Given the description of an element on the screen output the (x, y) to click on. 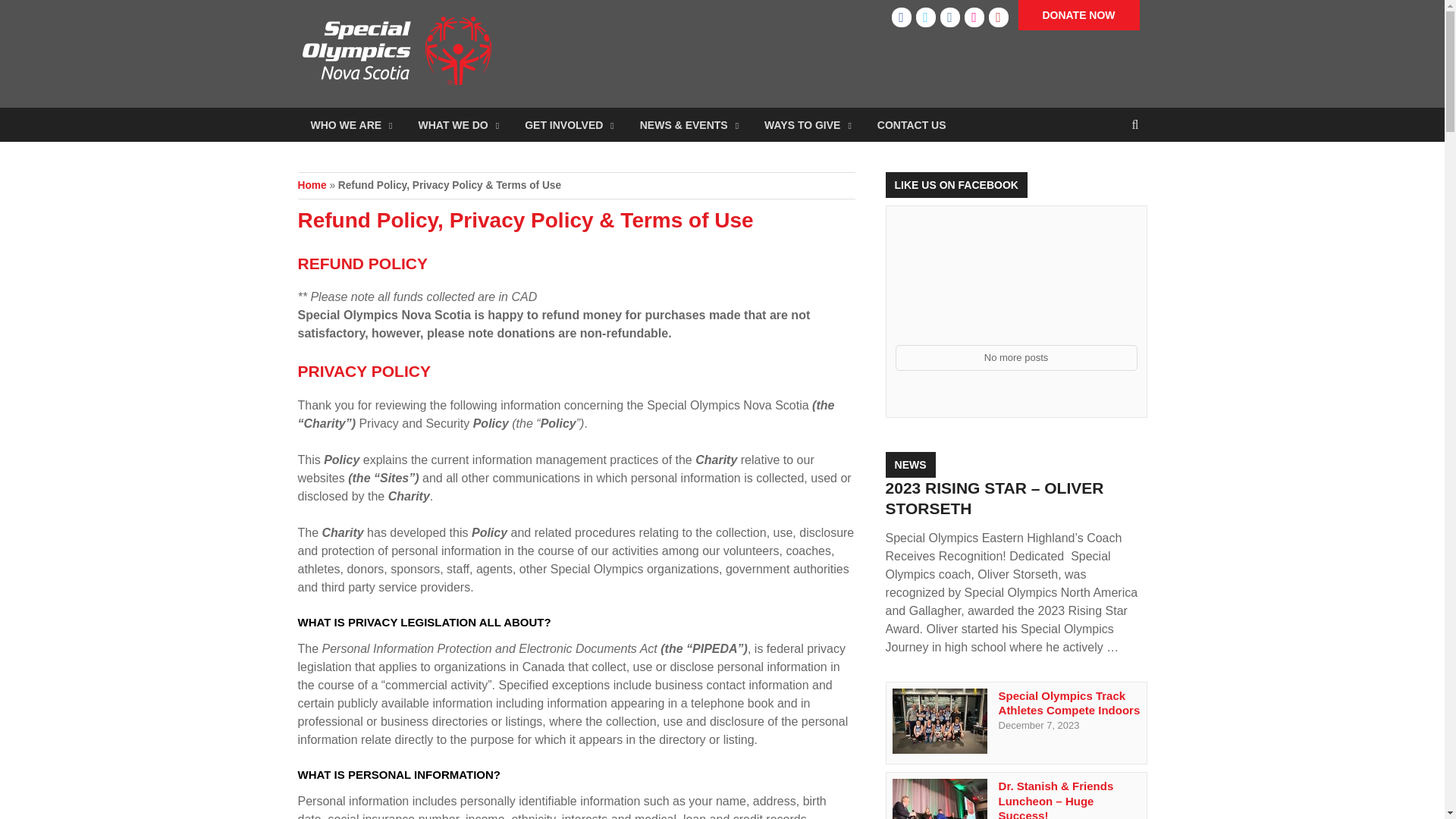
Special Olympics Track Athletes Compete Indoors (939, 749)
WHO WE ARE (350, 124)
DONATE NOW (1077, 15)
WHAT WE DO (458, 124)
